Given the description of an element on the screen output the (x, y) to click on. 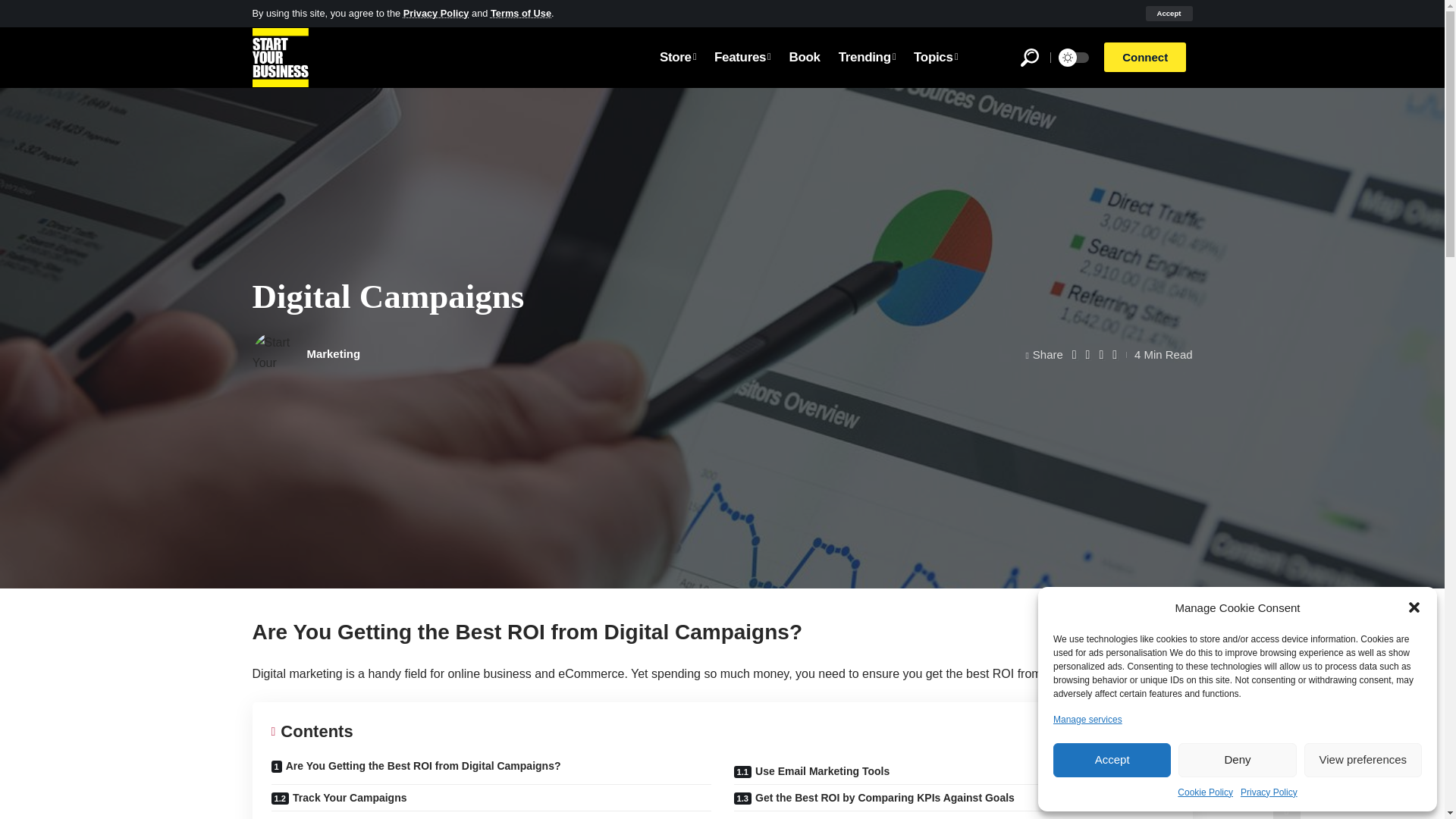
Manage services (1087, 719)
View preferences (1363, 759)
Features (742, 57)
Deny (1236, 759)
Trending (866, 57)
Accept (1111, 759)
Privacy Policy (435, 12)
Cookie Policy (1205, 792)
Accept (1168, 13)
Store (677, 57)
Terms of Use (520, 12)
Privacy Policy (1268, 792)
